Given the description of an element on the screen output the (x, y) to click on. 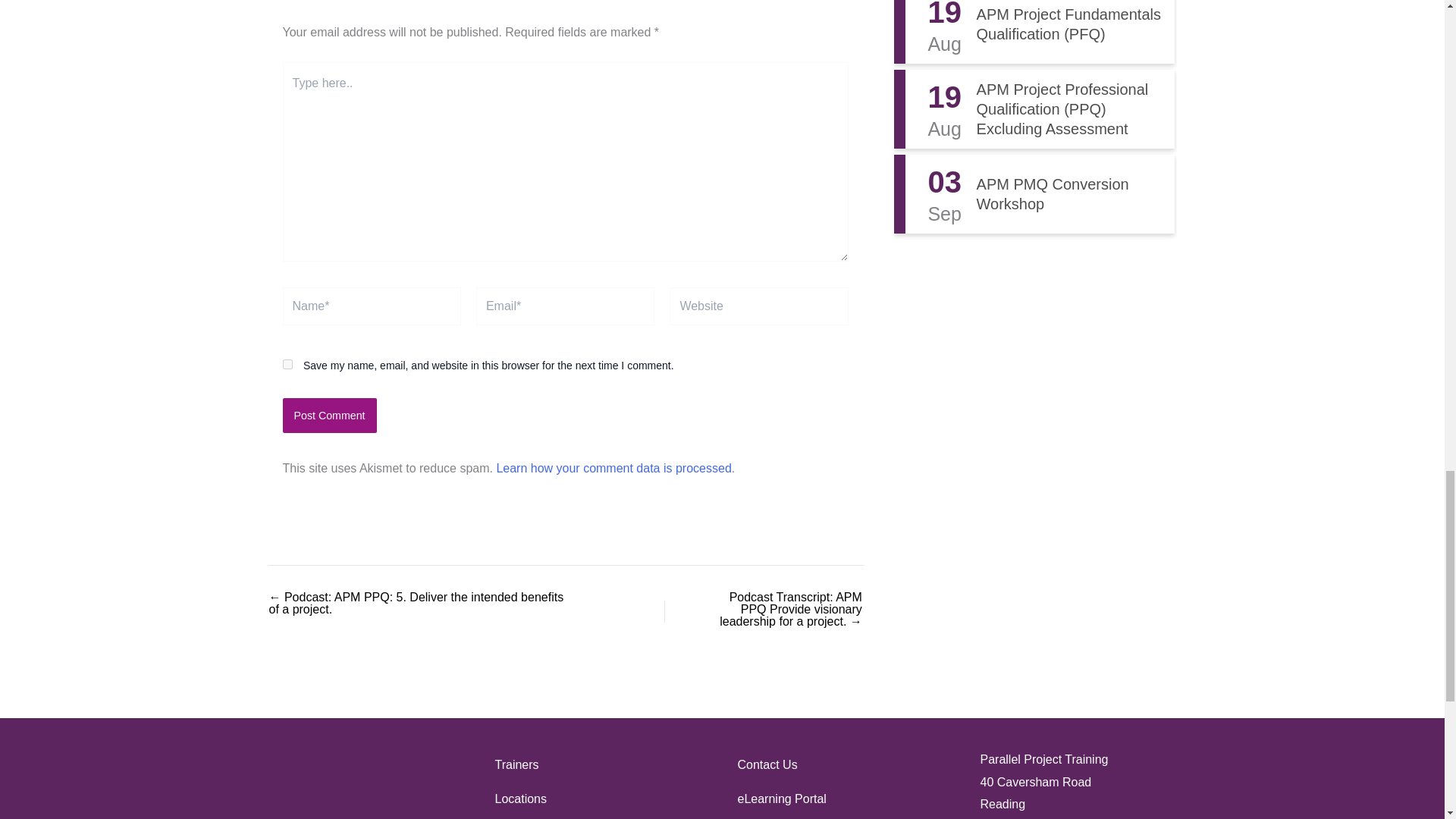
Post Comment (328, 415)
yes (287, 364)
white-geese-logo-min (357, 783)
